Given the description of an element on the screen output the (x, y) to click on. 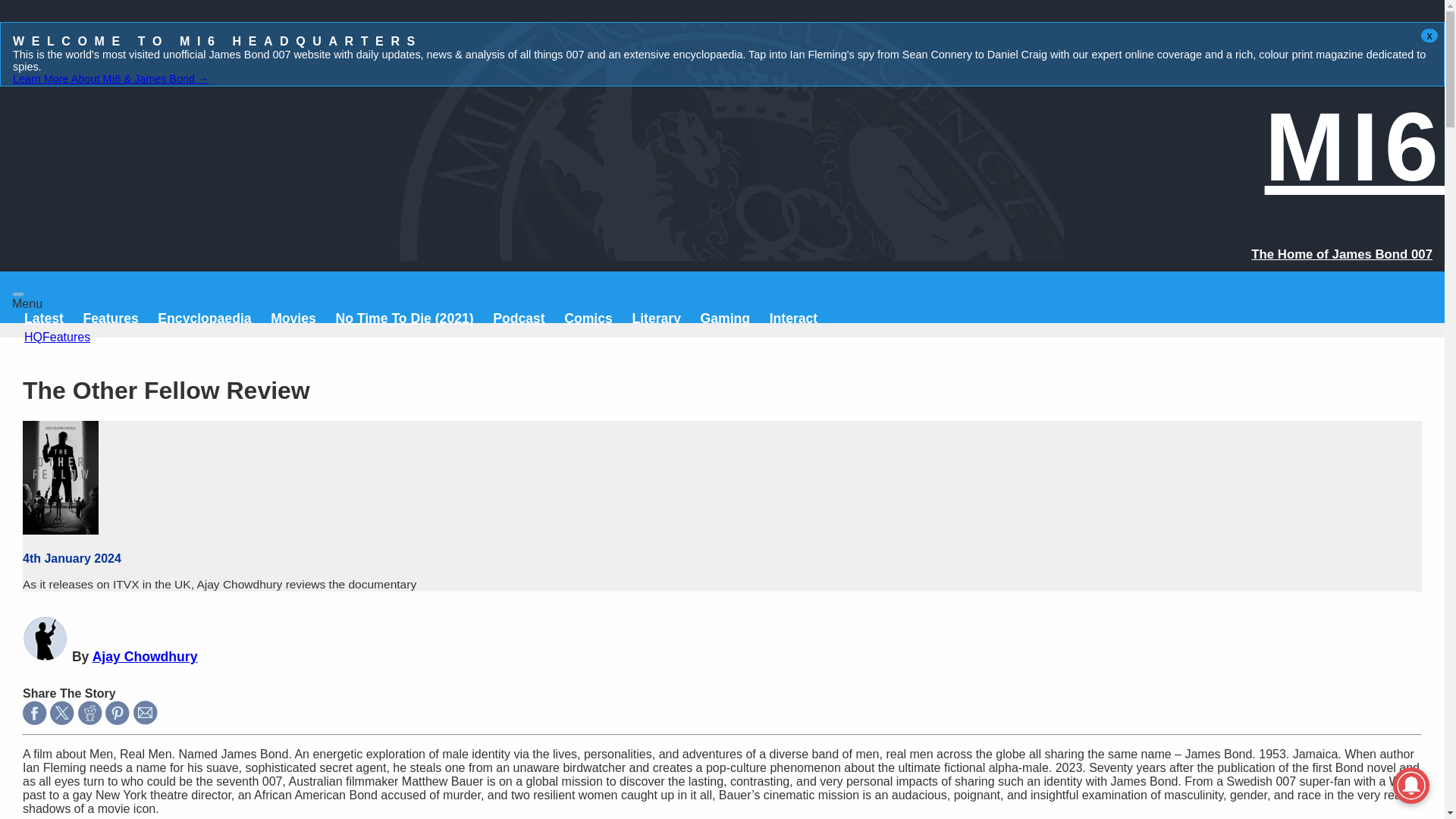
Features (110, 318)
x (1429, 35)
The Home of James Bond 007 (1341, 254)
Literary (656, 318)
Gaming (725, 318)
Comics (588, 318)
Movies (292, 318)
Encyclopaedia (203, 318)
Podcast (518, 318)
Interact (794, 318)
Latest (44, 318)
